Given the description of an element on the screen output the (x, y) to click on. 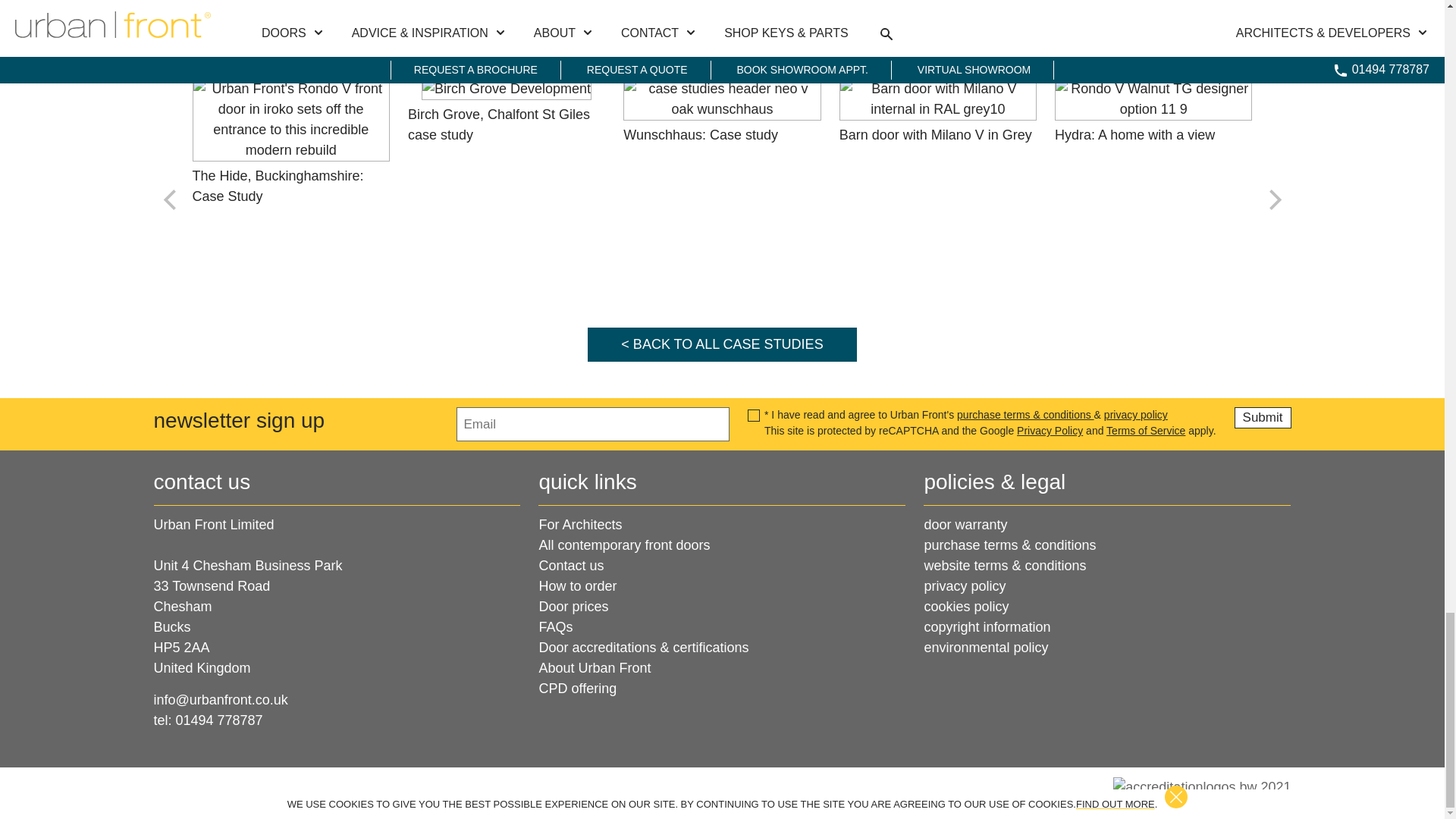
Submit (1262, 417)
